Given the description of an element on the screen output the (x, y) to click on. 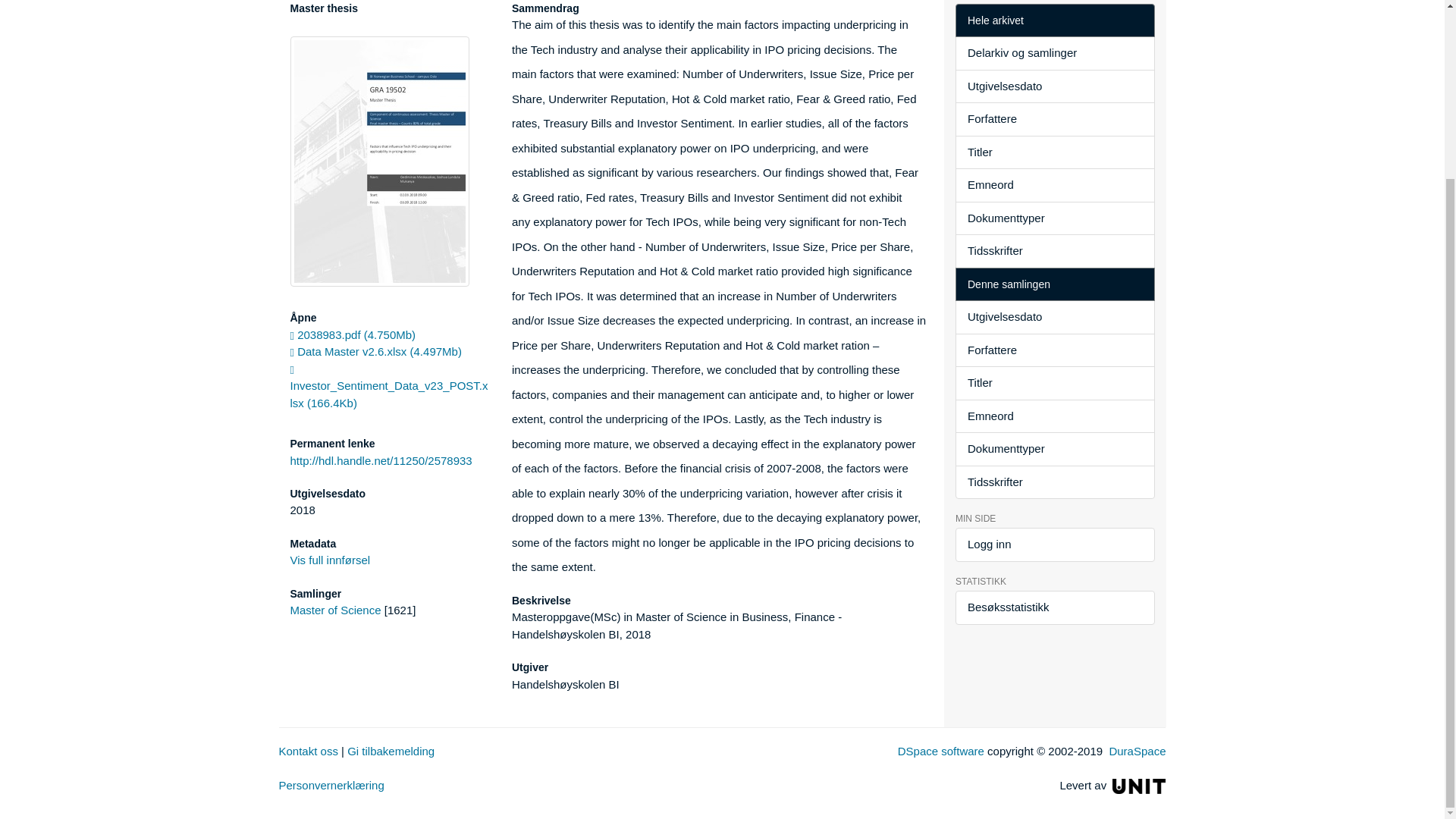
Unit (1139, 784)
Master of Science (334, 609)
Delarkiv og samlinger (1054, 53)
Hele arkivet (1054, 20)
Utgivelsesdato (1054, 86)
